Given the description of an element on the screen output the (x, y) to click on. 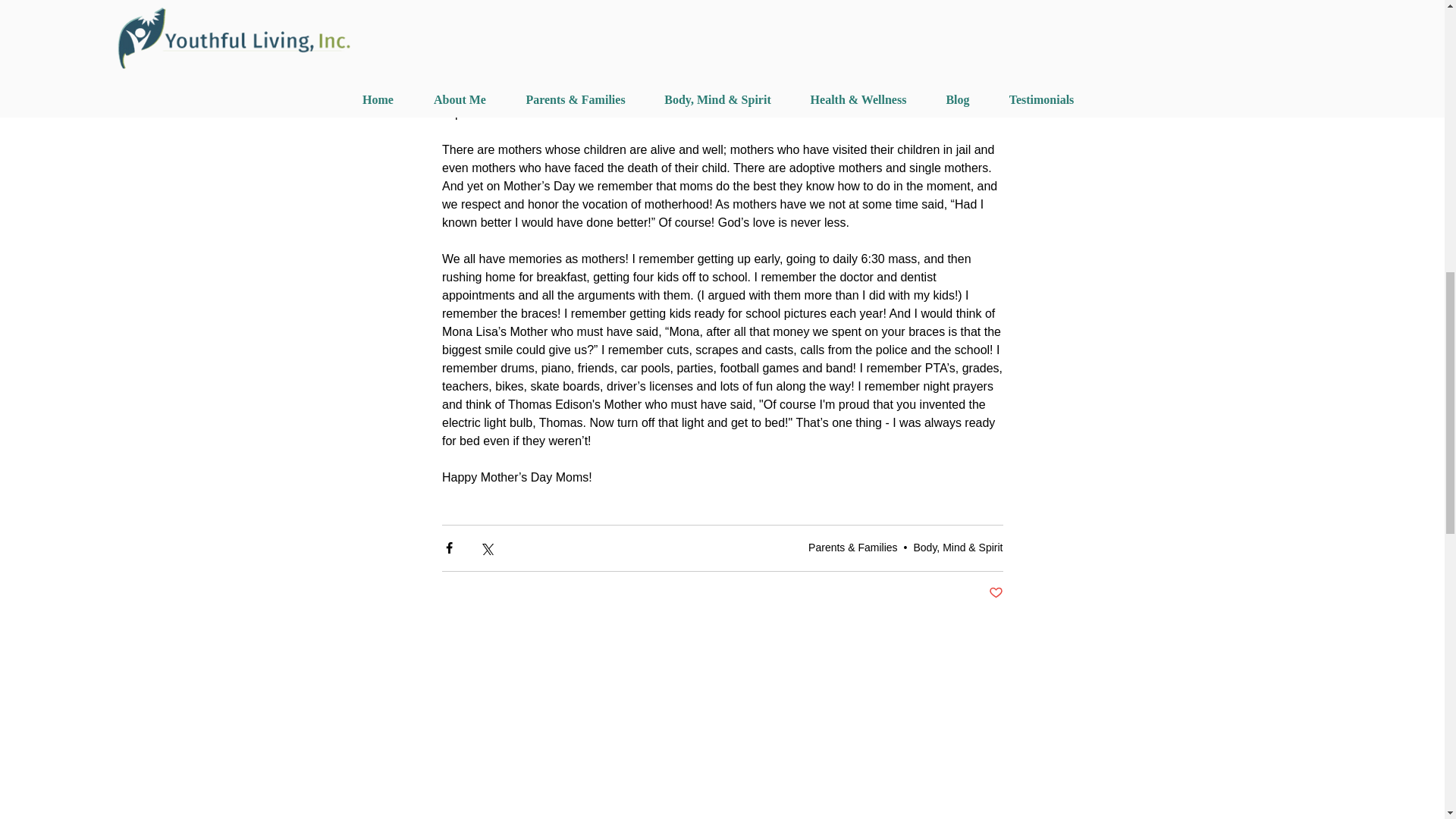
Post not marked as liked (995, 593)
